Given the description of an element on the screen output the (x, y) to click on. 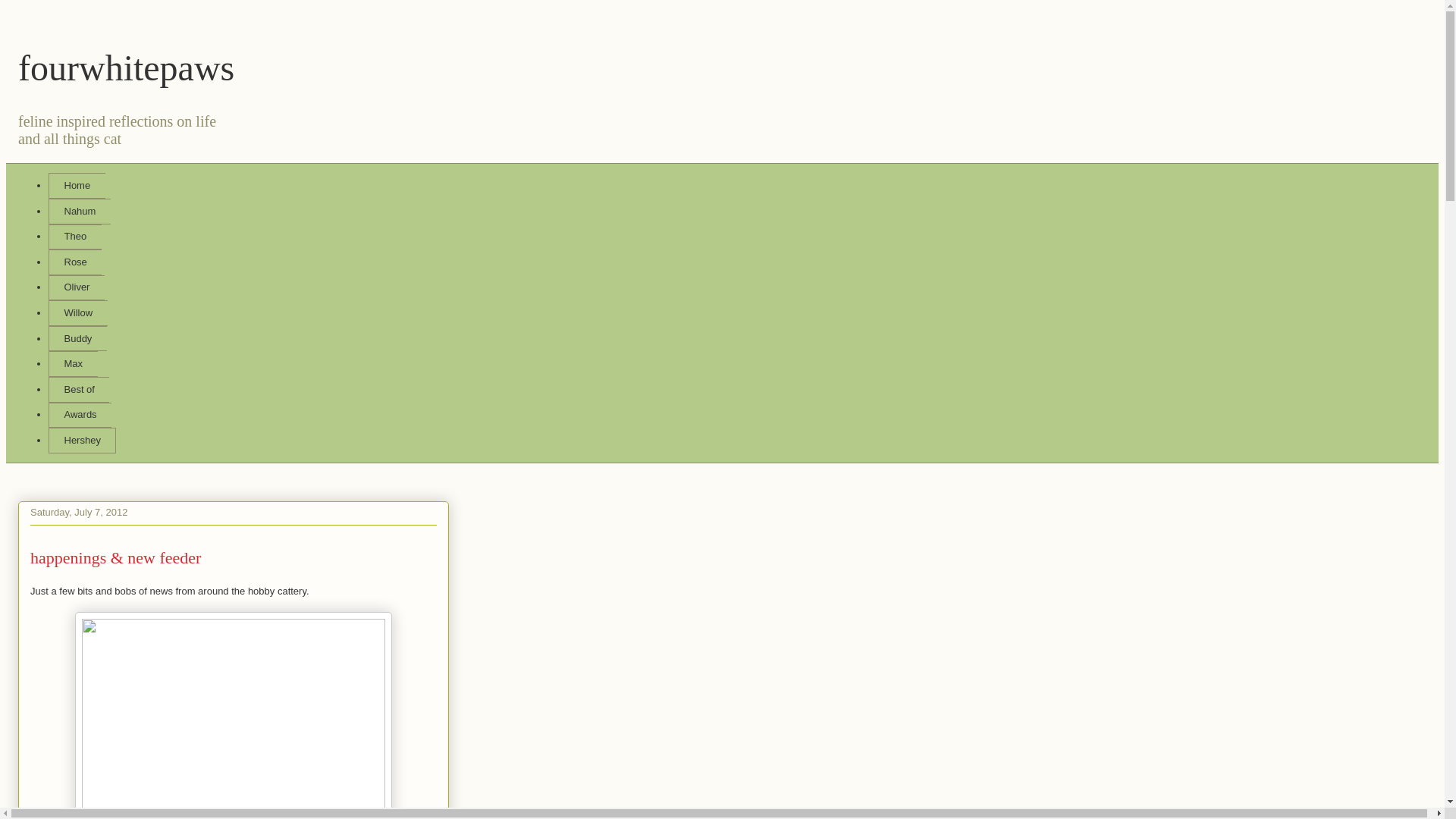
Hershey (82, 440)
Rose (74, 262)
Awards (80, 415)
Oliver (76, 288)
Home (76, 185)
Max (72, 363)
Buddy (77, 338)
fourwhitepaws (125, 67)
Nahum (79, 211)
Willow (77, 312)
Theo (74, 237)
Best of (78, 389)
